Given the description of an element on the screen output the (x, y) to click on. 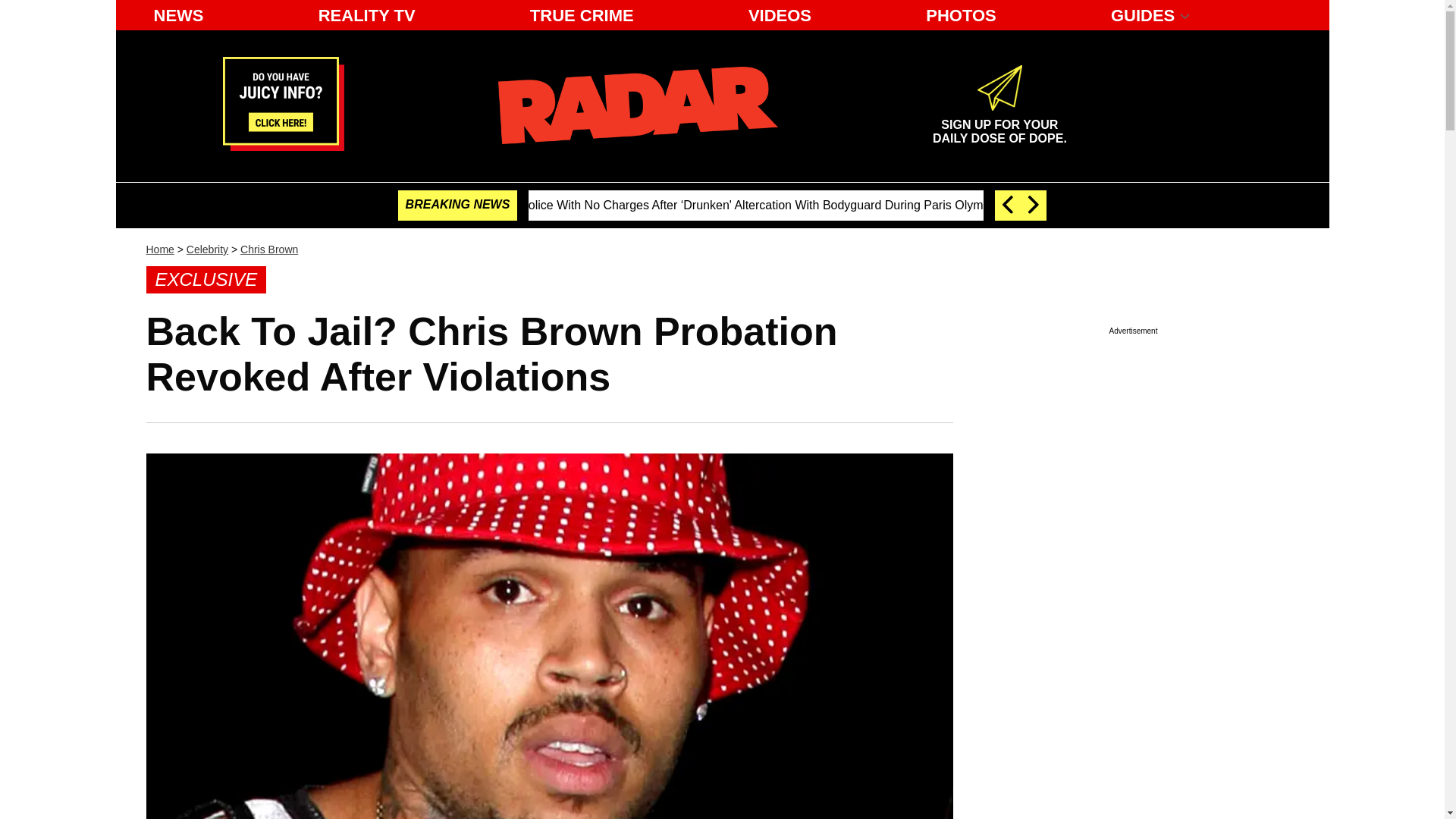
VIDEOS (779, 15)
PHOTOS (961, 15)
Radar Online (637, 105)
Sign up for your daily dose of dope. (999, 124)
NEWS (178, 15)
Celebrity (207, 249)
TRUE CRIME (582, 15)
Home (159, 249)
REALITY TV (999, 124)
